Given the description of an element on the screen output the (x, y) to click on. 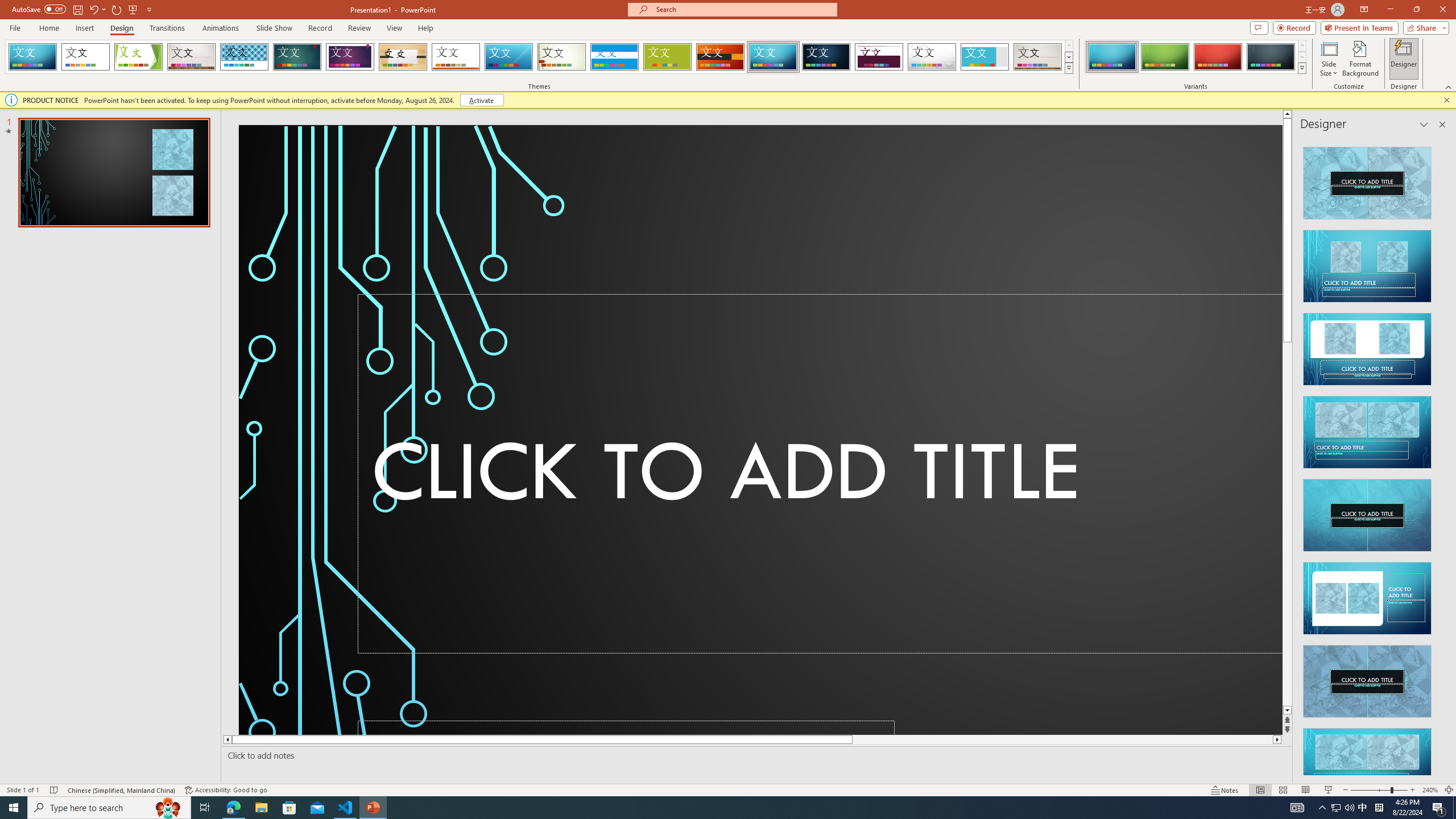
Frame (984, 56)
Class: NetUIScrollBar (1441, 456)
Retrospect (455, 56)
Slide Notes (754, 755)
Slide Size (1328, 58)
Circuit Variant 2 (1164, 56)
Organic (403, 56)
Circuit Variant 4 (1270, 56)
Circuit (772, 56)
Design Idea (1366, 760)
AutomationID: ThemeVariantsGallery (1195, 56)
Dividend (879, 56)
